Given the description of an element on the screen output the (x, y) to click on. 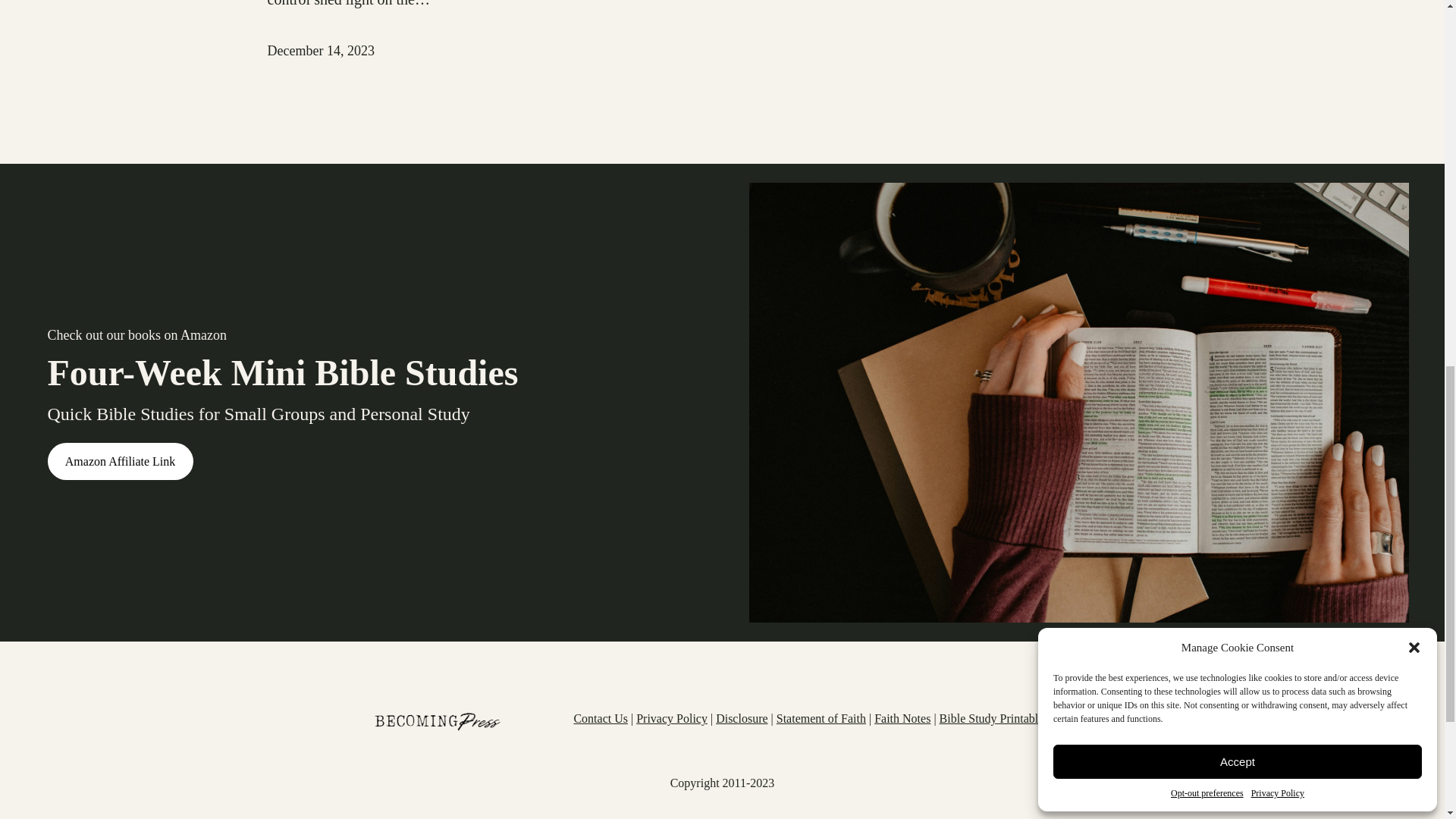
December 14, 2023 (320, 50)
Disclosure (741, 717)
Amazon Affiliate Link (119, 461)
Faith Notes (902, 717)
Bible Study Printables (993, 717)
Contact Us (600, 717)
Privacy Policy (671, 717)
Statement of Faith (821, 717)
